Given the description of an element on the screen output the (x, y) to click on. 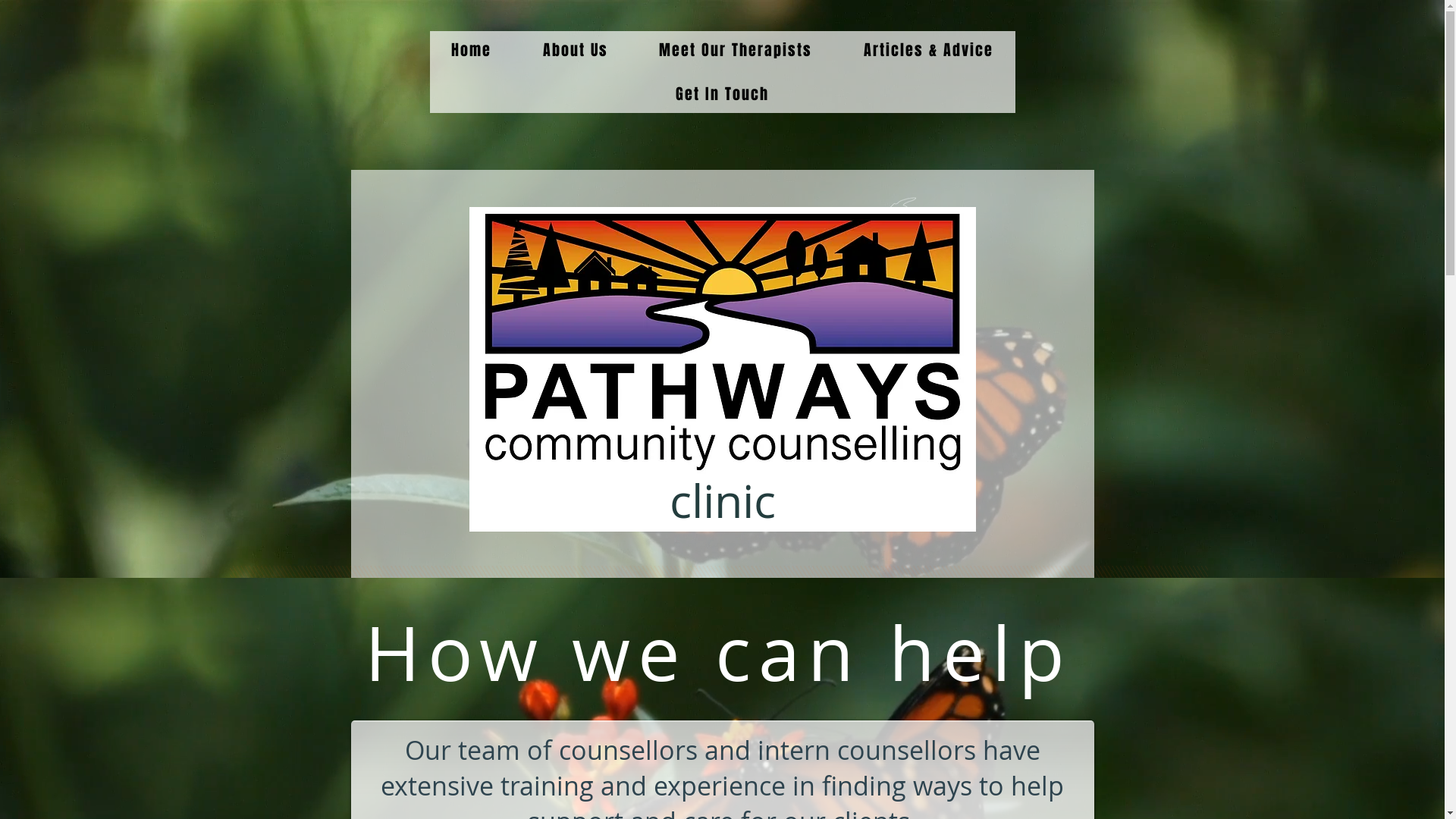
PATHWAYS LOGO_edited.jpg Element type: hover (721, 340)
Articles & Advice Element type: text (928, 50)
Meet Our Therapists Element type: text (735, 50)
Home Element type: text (471, 50)
Get In Touch Element type: text (721, 93)
About Us Element type: text (575, 50)
